Given the description of an element on the screen output the (x, y) to click on. 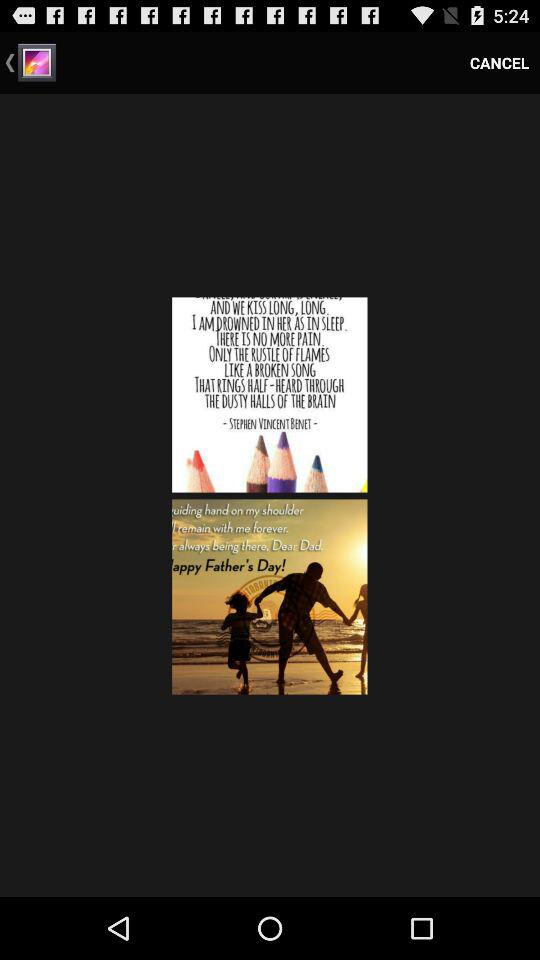
click the icon at the top right corner (499, 62)
